Given the description of an element on the screen output the (x, y) to click on. 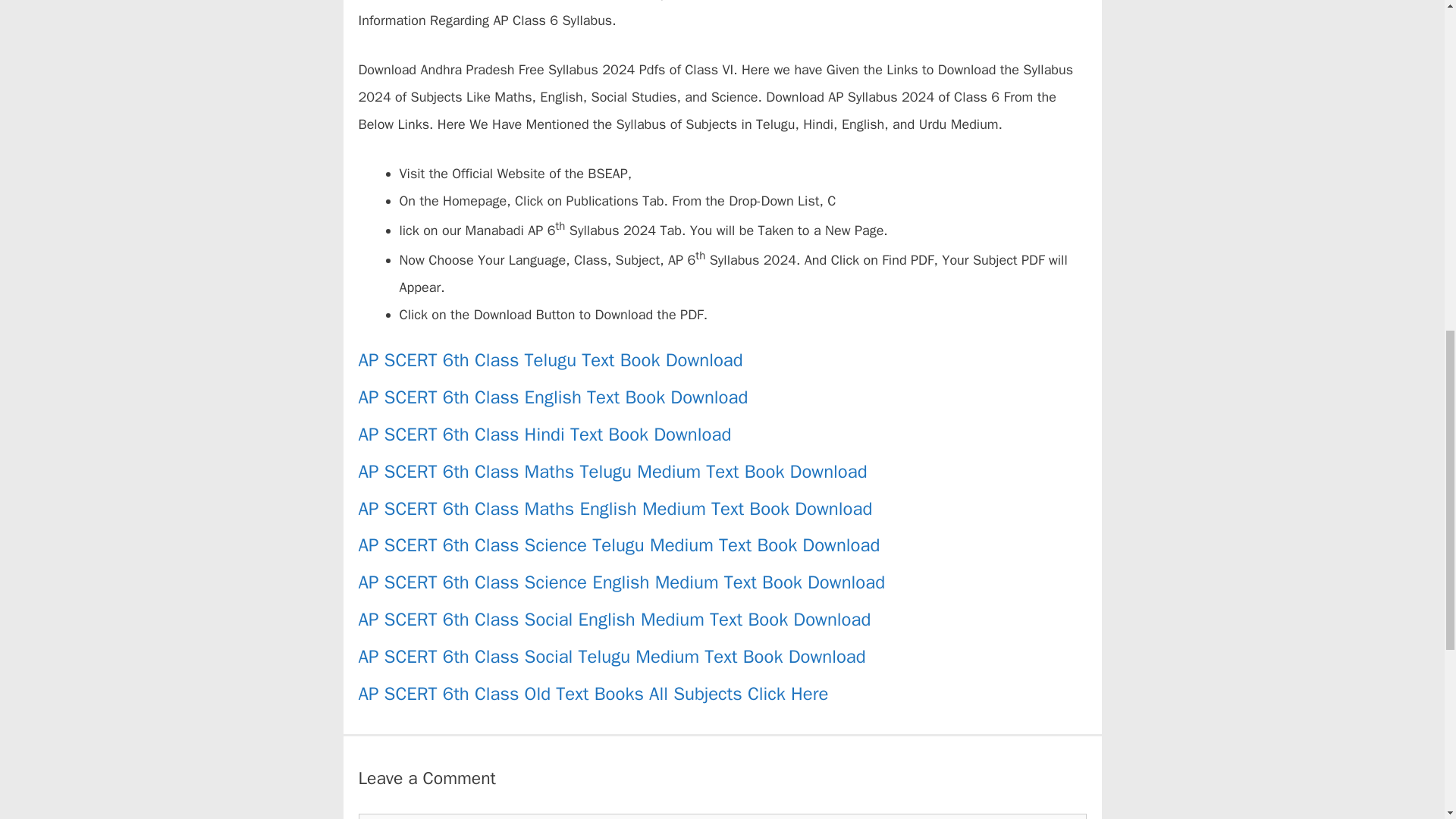
AP SCERT 6th Class English Text Book Download (553, 396)
AP SCERT 6th Class Telugu Text Book Download (550, 359)
AP SCERT 6th Class Old Text Books All Subjects Click Here (593, 693)
AP SCERT 6th Class Maths Telugu Medium Text Book Download (612, 471)
AP SCERT 6th Class Hindi Text Book Download (544, 434)
AP SCERT 6th Class Social Telugu Medium Text Book Download (611, 656)
AP SCERT 6th Class Science English Medium Text Book Download (621, 581)
AP SCERT 6th Class Science Telugu Medium Text Book Download (618, 544)
AP SCERT 6th Class Social English Medium Text Book Download (614, 619)
AP SCERT 6th Class Maths English Medium Text Book Download (615, 508)
